Given the description of an element on the screen output the (x, y) to click on. 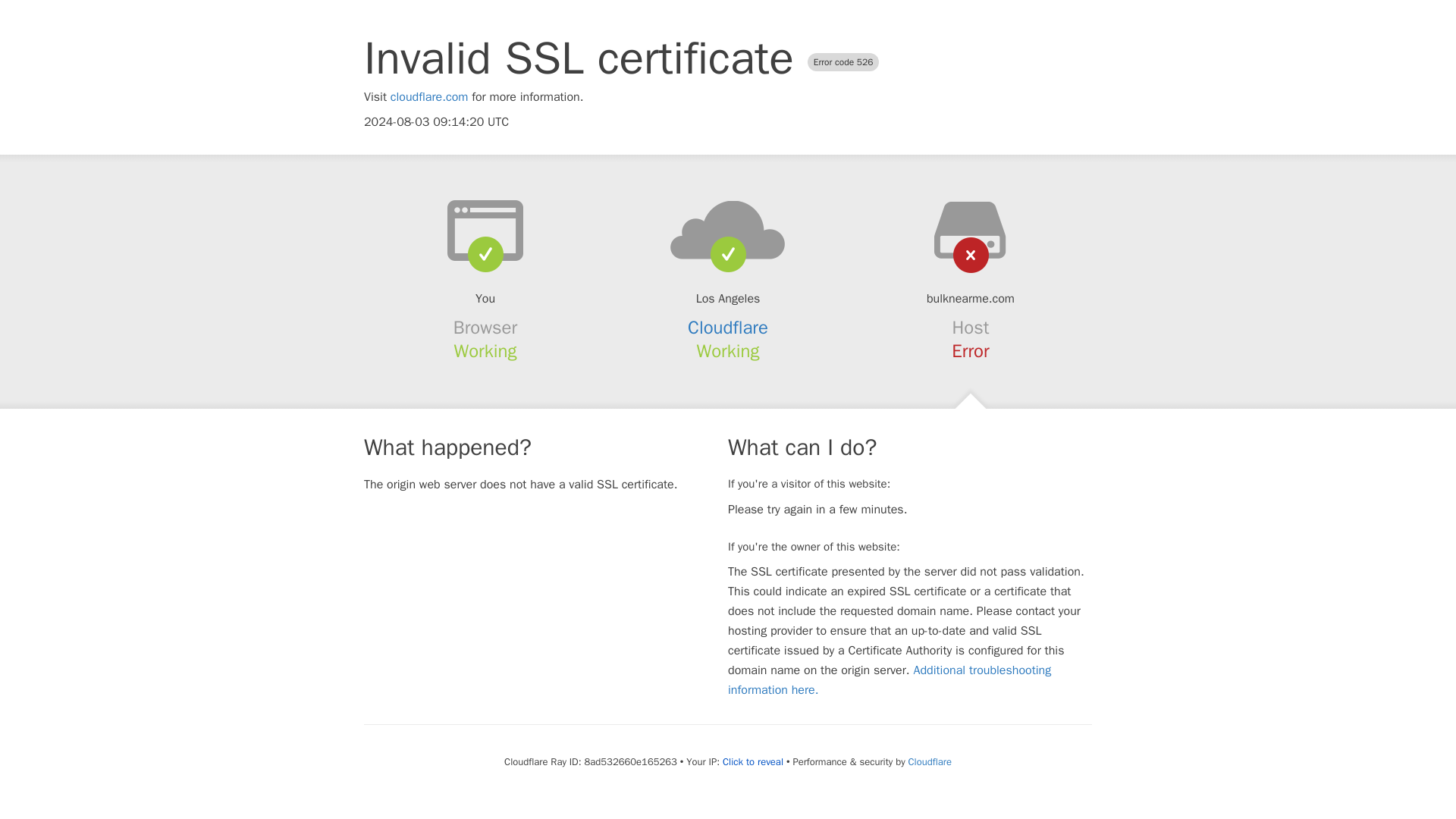
Click to reveal (752, 762)
cloudflare.com (429, 96)
Additional troubleshooting information here. (889, 679)
Cloudflare (930, 761)
Cloudflare (727, 327)
